Given the description of an element on the screen output the (x, y) to click on. 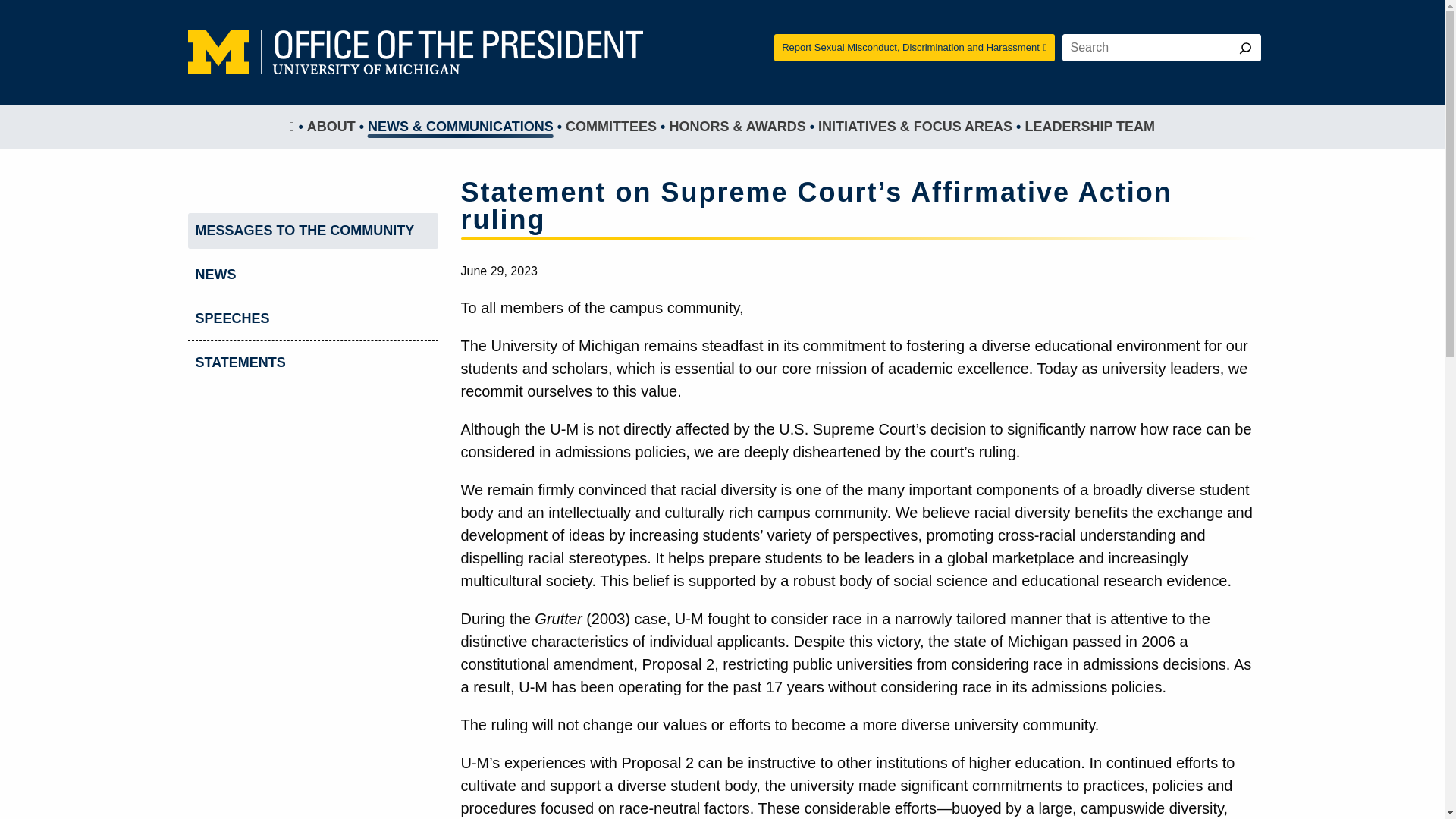
SPEECHES (312, 318)
Report Sexual Misconduct, Discrimination and Harassment (914, 47)
LEADERSHIP TEAM (1089, 126)
COMMITTEES (611, 126)
Office of the President (415, 52)
Office of the President (415, 49)
MESSAGES TO THE COMMUNITY (312, 230)
NEWS (312, 274)
ABOUT (331, 126)
STATEMENTS (312, 362)
